Given the description of an element on the screen output the (x, y) to click on. 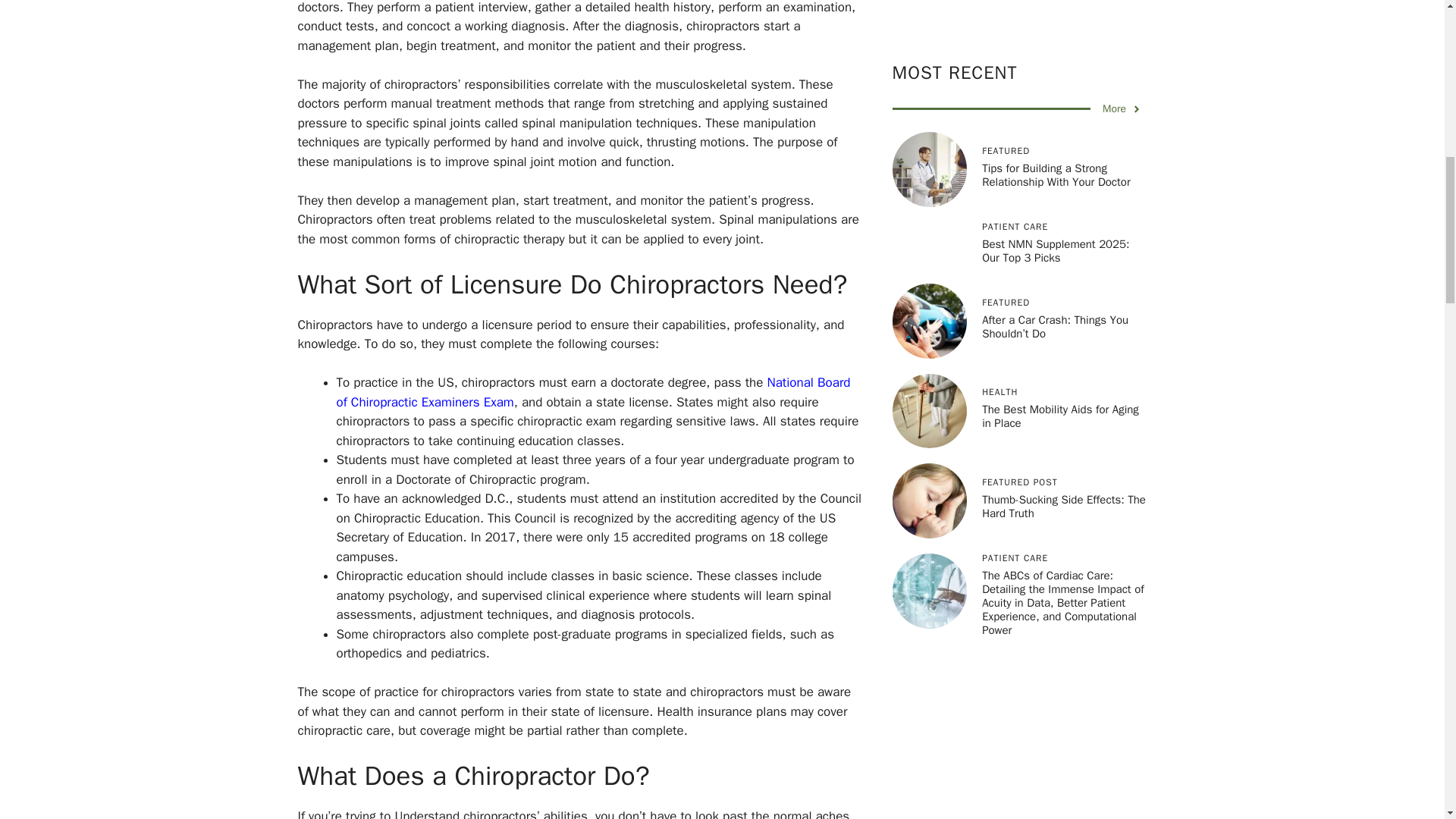
National Board of Chiropractic Examiners Exam (593, 392)
The Best Mobility Aids for Aging in Place (1059, 189)
Best NMN Supplement 2025: Our Top 3 Picks (1055, 24)
Thumb-Sucking Side Effects: The Hard Truth (1063, 280)
